Given the description of an element on the screen output the (x, y) to click on. 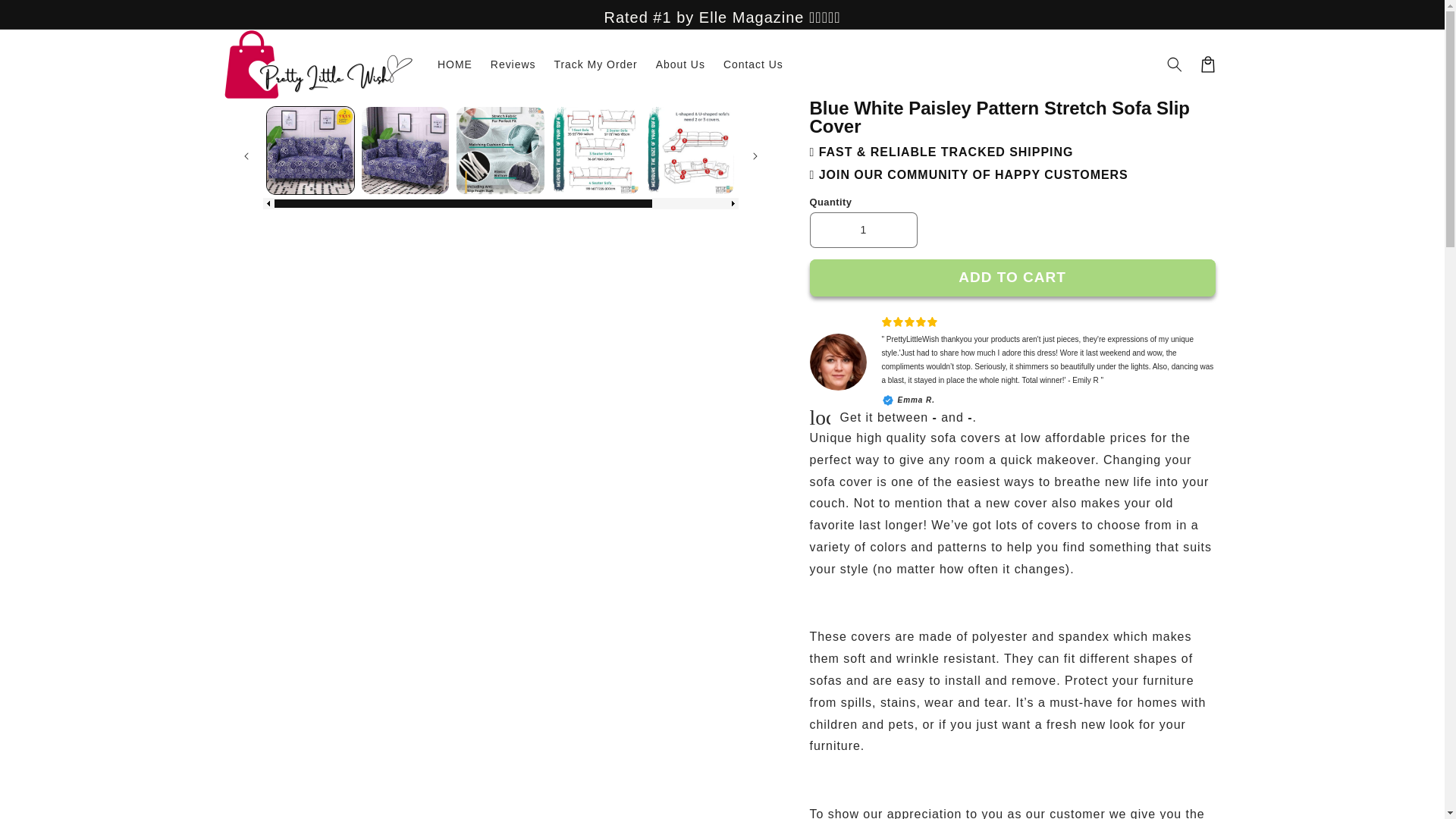
Cart (1207, 64)
1 (863, 230)
Skip to product information (275, 116)
HOME (454, 64)
Contact Us (753, 64)
Track My Order (595, 64)
Skip to content (46, 18)
About Us (680, 64)
Reviews (512, 64)
